Given the description of an element on the screen output the (x, y) to click on. 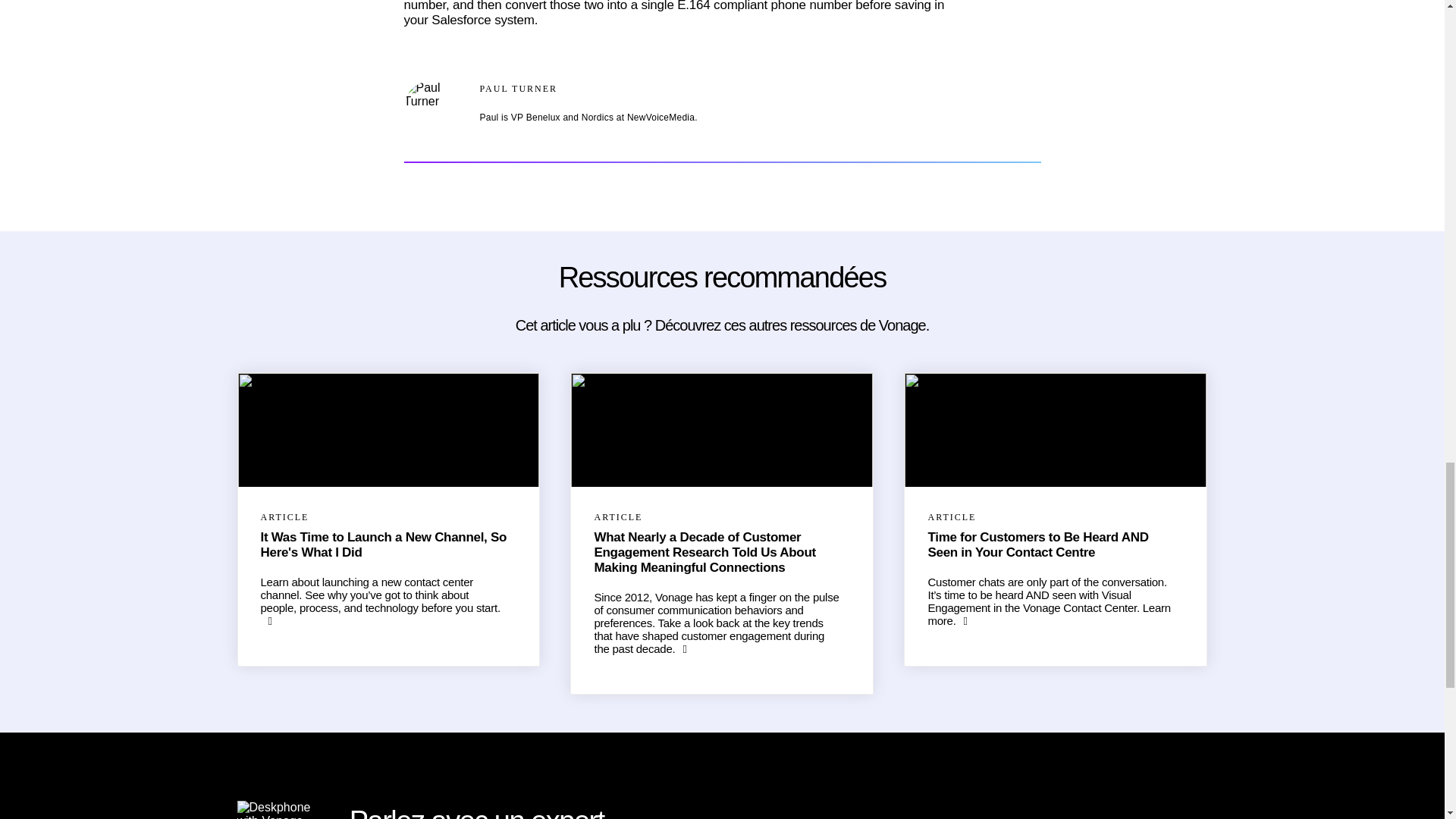
Vonage Phone (273, 809)
